Given the description of an element on the screen output the (x, y) to click on. 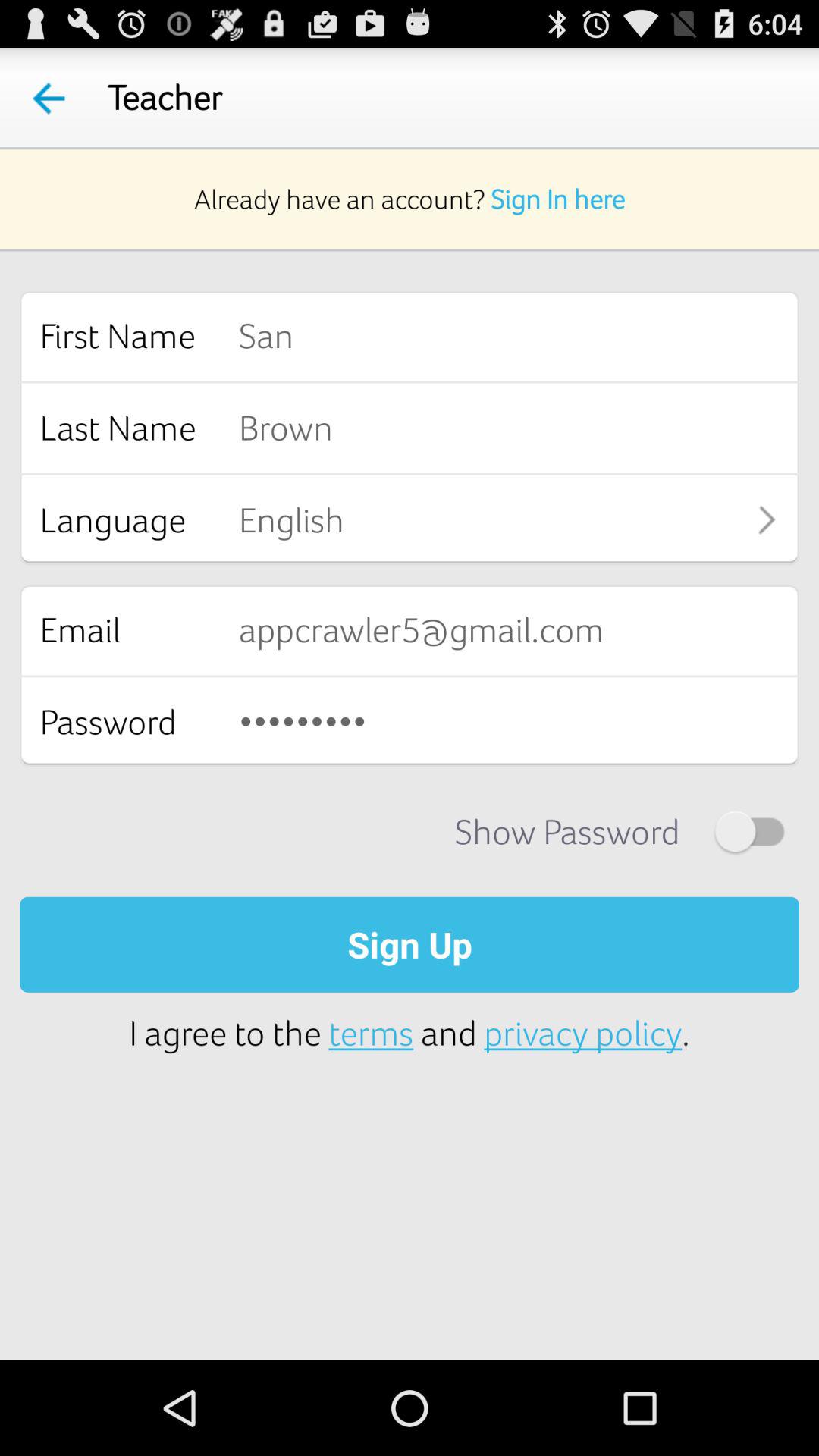
show password (749, 831)
